Given the description of an element on the screen output the (x, y) to click on. 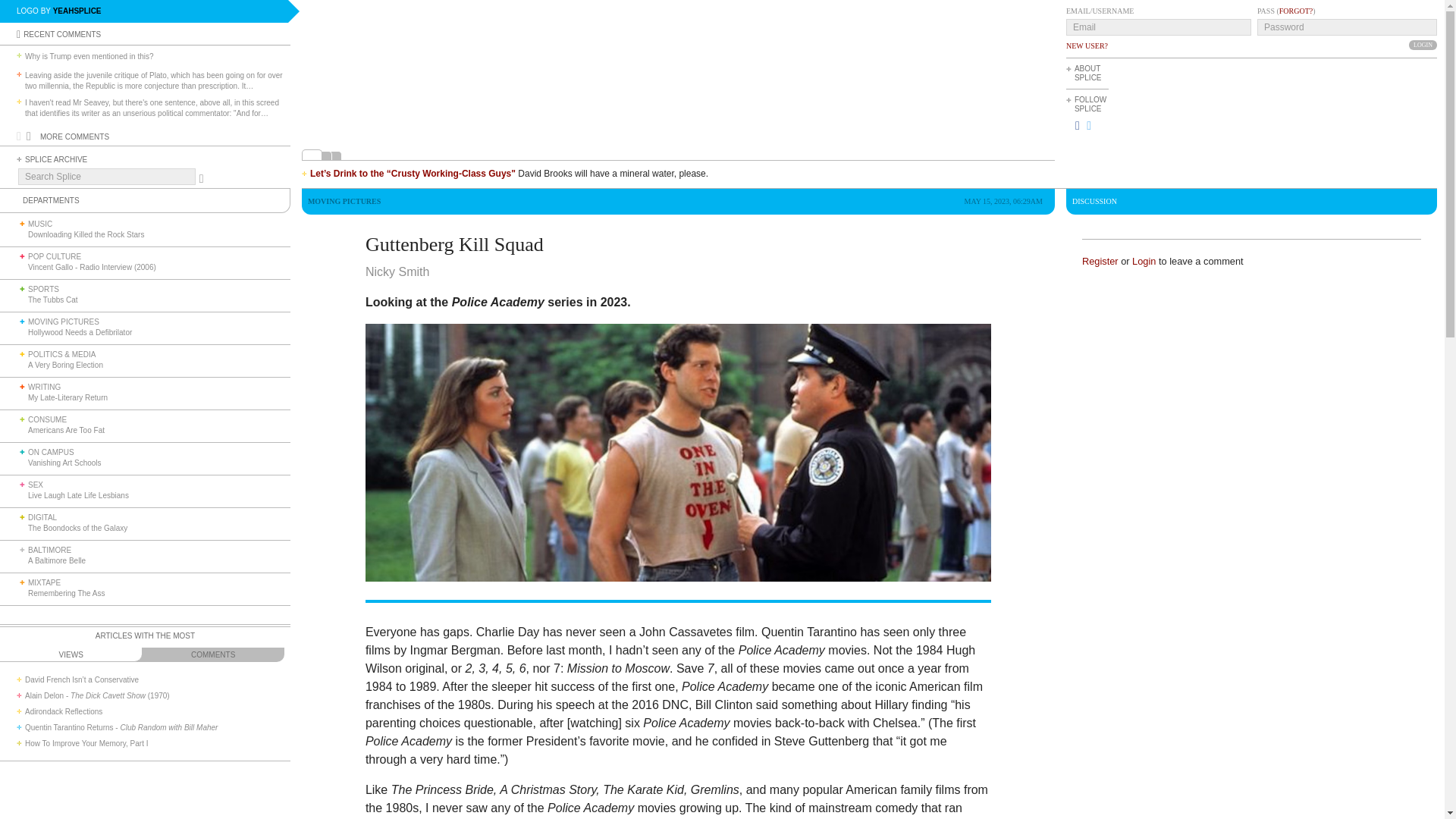
My Late-Literary Return (67, 397)
A Very Boring Election (65, 365)
WRITING (44, 387)
FORGOT? (1296, 10)
Americans Are Too Fat (65, 429)
ON CAMPUS (50, 451)
YEAHSPLICE (76, 10)
Hollywood Needs a Defibrilator (79, 332)
SPLICE ARCHIVE (55, 159)
Login (1423, 44)
